Given the description of an element on the screen output the (x, y) to click on. 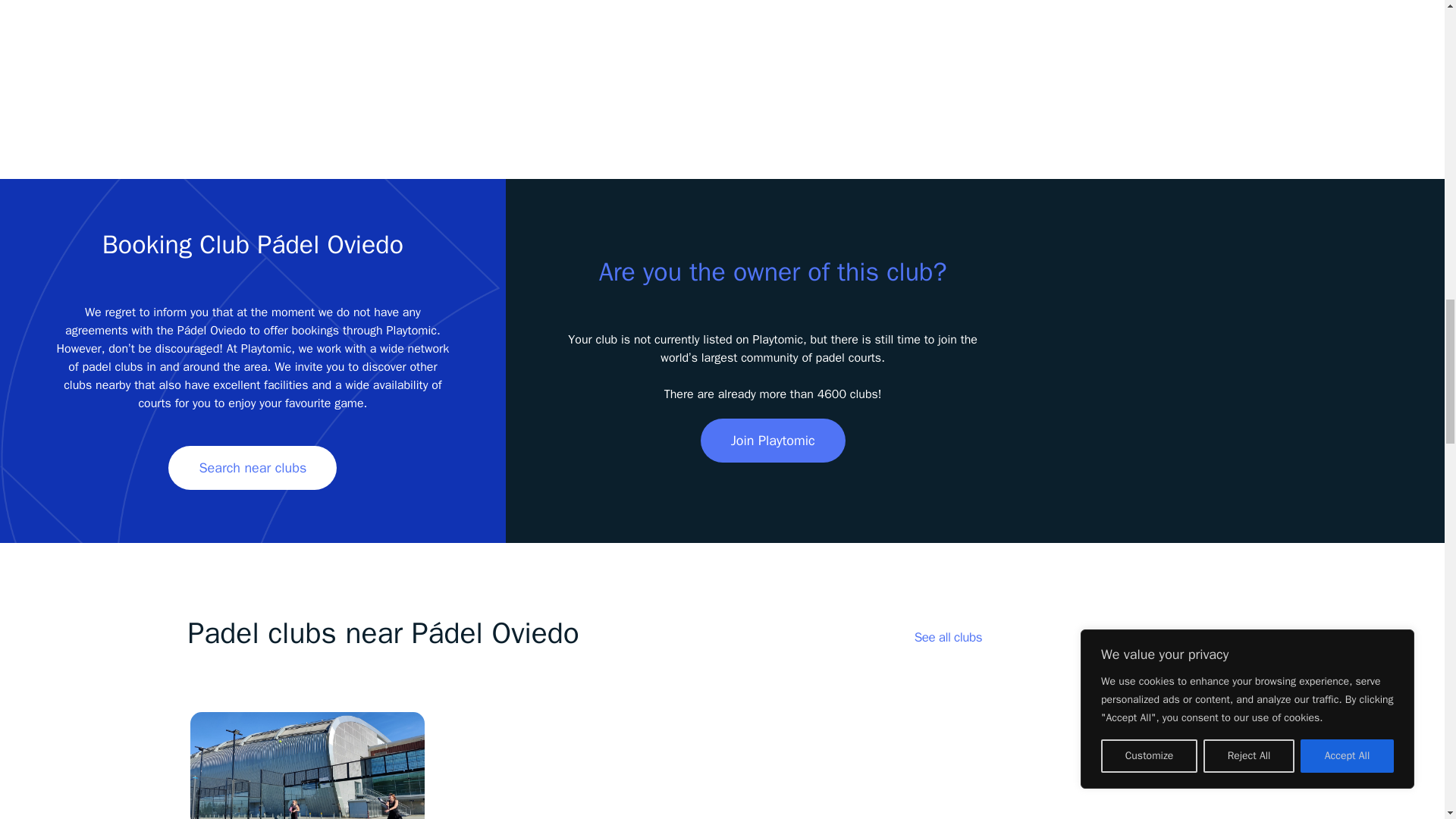
See all clubs (947, 637)
Search near clubs (252, 467)
Join Playtomic (772, 440)
